Given the description of an element on the screen output the (x, y) to click on. 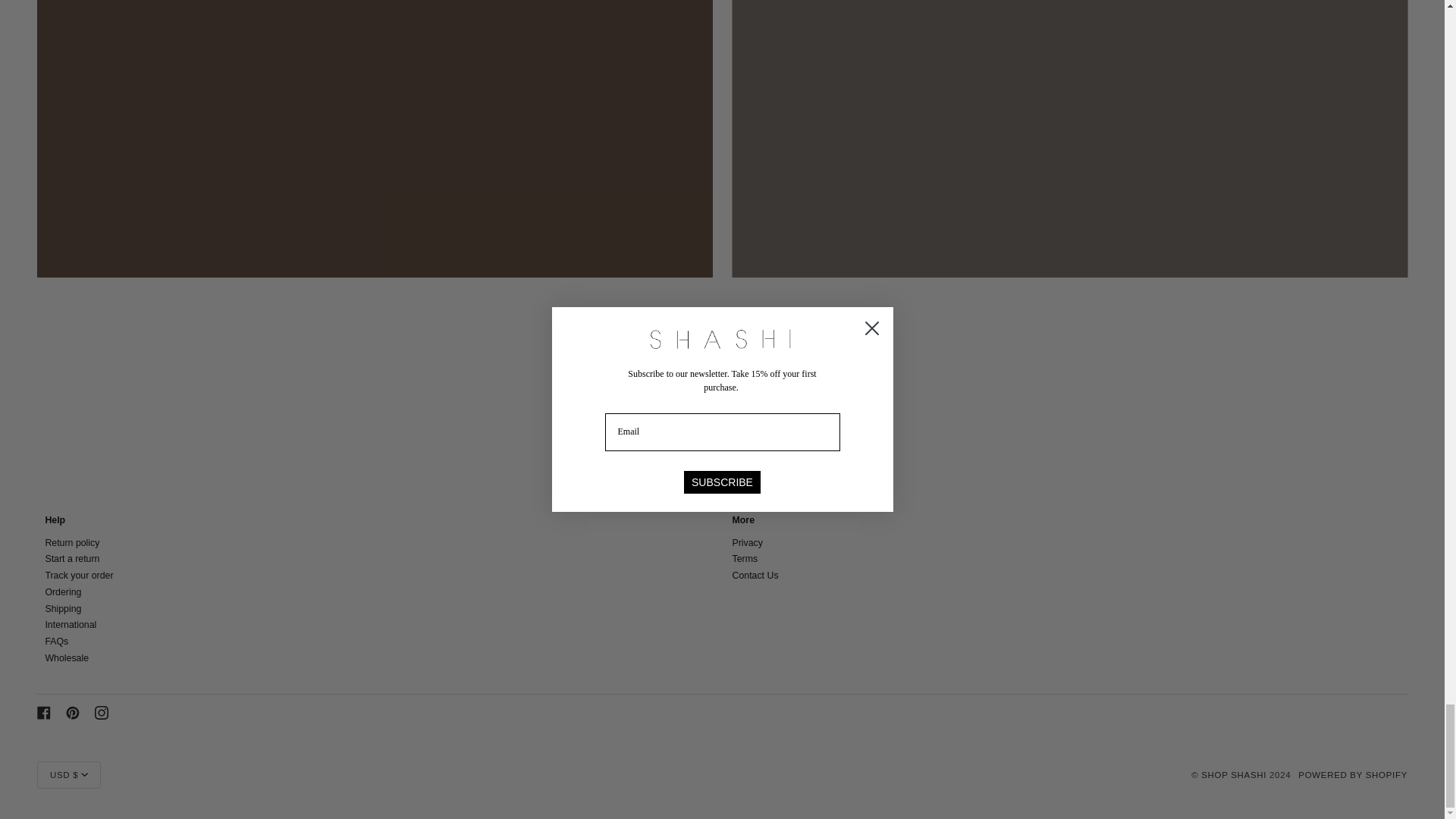
Facebook (43, 712)
Pinterest (72, 712)
Instagram (100, 712)
